Given the description of an element on the screen output the (x, y) to click on. 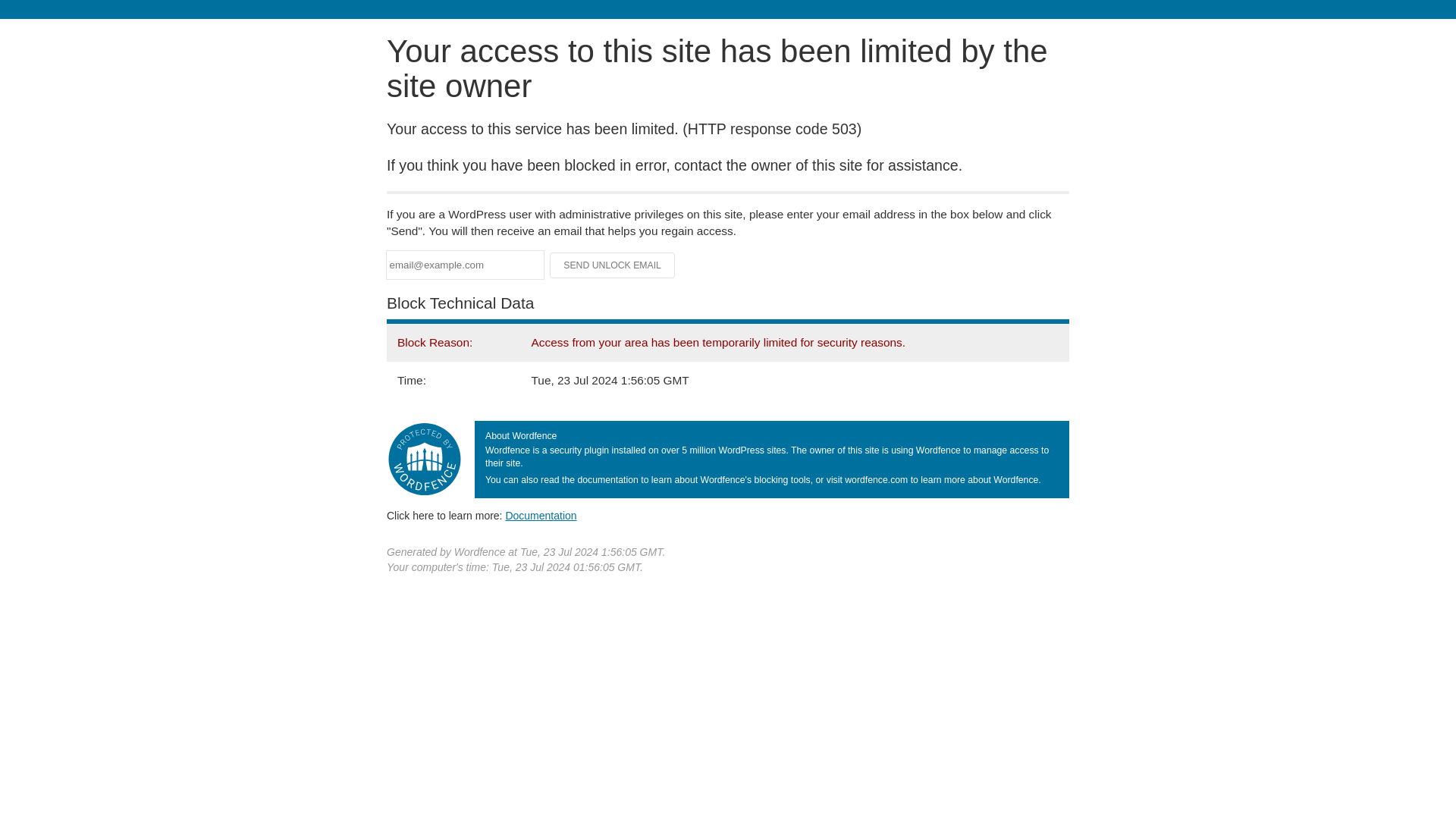
Send Unlock Email (612, 265)
Send Unlock Email (612, 265)
Documentation (540, 515)
